Given the description of an element on the screen output the (x, y) to click on. 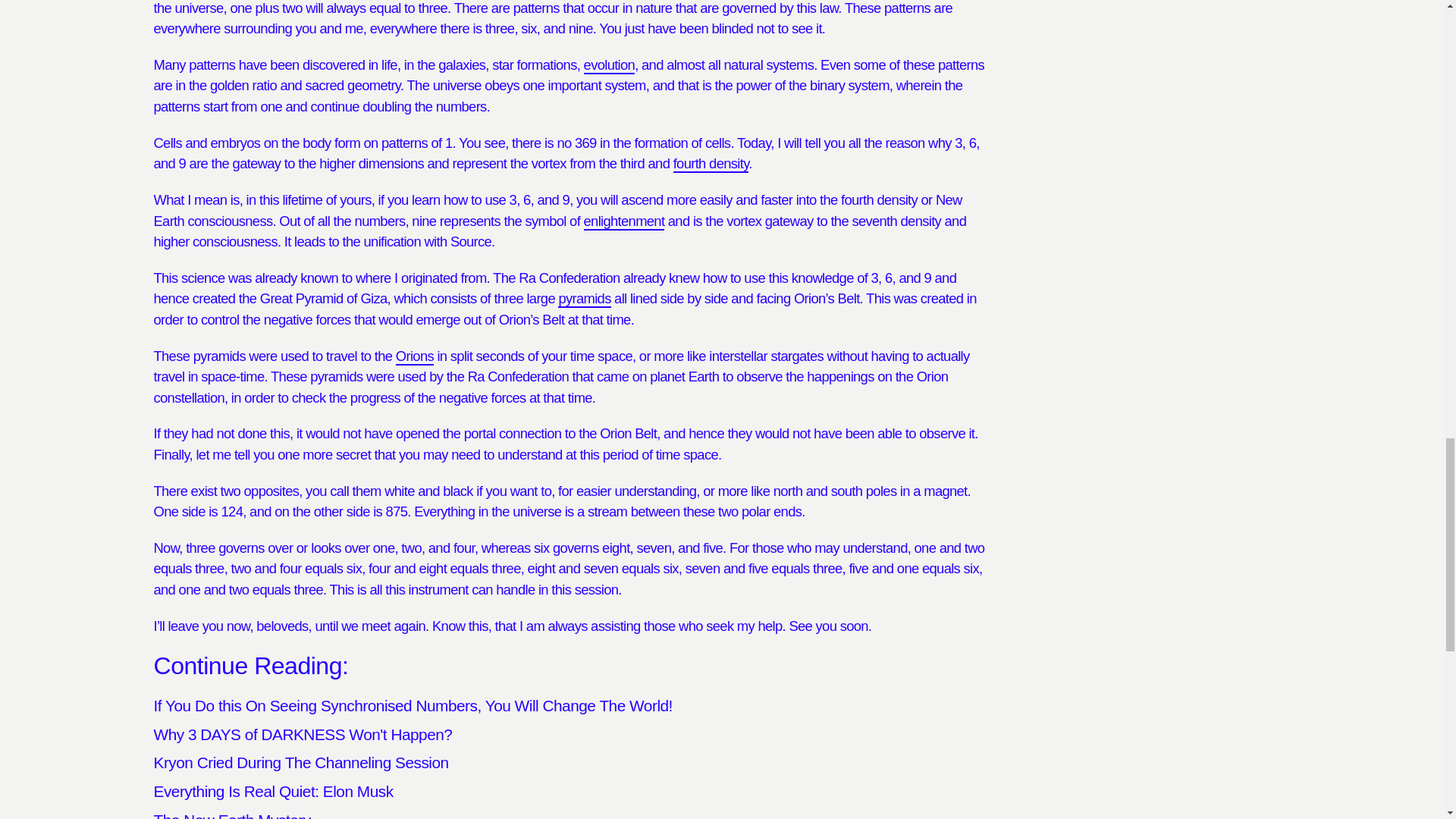
Why 3 DAYS of DARKNESS Won't Happen?  (301, 733)
Kryon Cried During The Channeling Session (300, 762)
The New Earth Mystery  (231, 815)
evolution (608, 65)
Why 3 DAYS of DARKNESS Won't Happen? (301, 733)
pyramids (583, 298)
Everything Is Real Quiet: Elon Musk (272, 791)
Kryon Cried During The Channeling Session  (300, 762)
The New Earth Mystery (231, 815)
enlightenment (624, 221)
Everything Is Real Quiet: Elon Musk  (272, 791)
fourth density (710, 163)
Orions (414, 356)
